Given the description of an element on the screen output the (x, y) to click on. 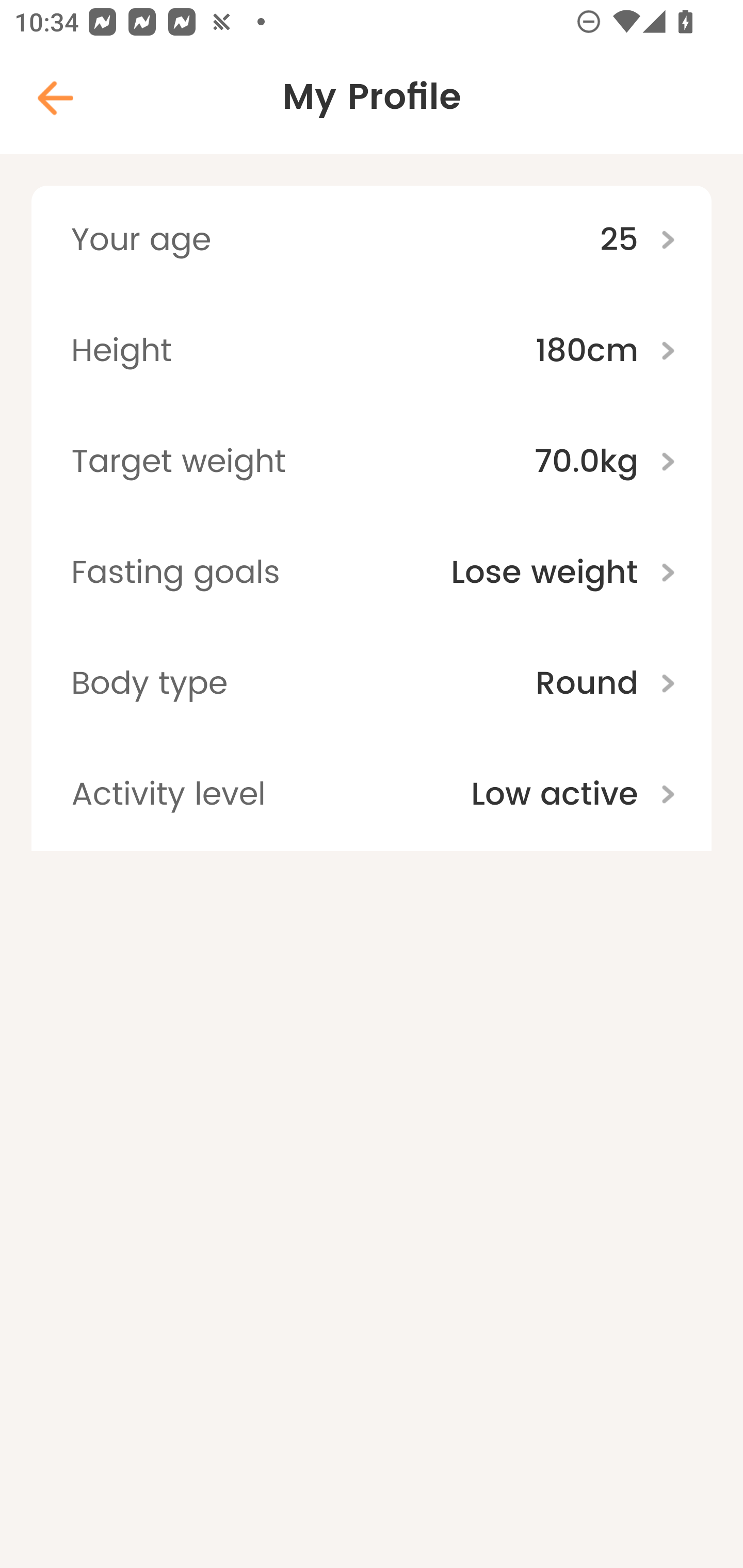
Your age 25 (371, 240)
Height 180cm (371, 351)
Target weight 70.0kg (371, 463)
Fasting goals Lose weight (371, 573)
Body type Round (371, 684)
Activity level Low active (371, 795)
